Given the description of an element on the screen output the (x, y) to click on. 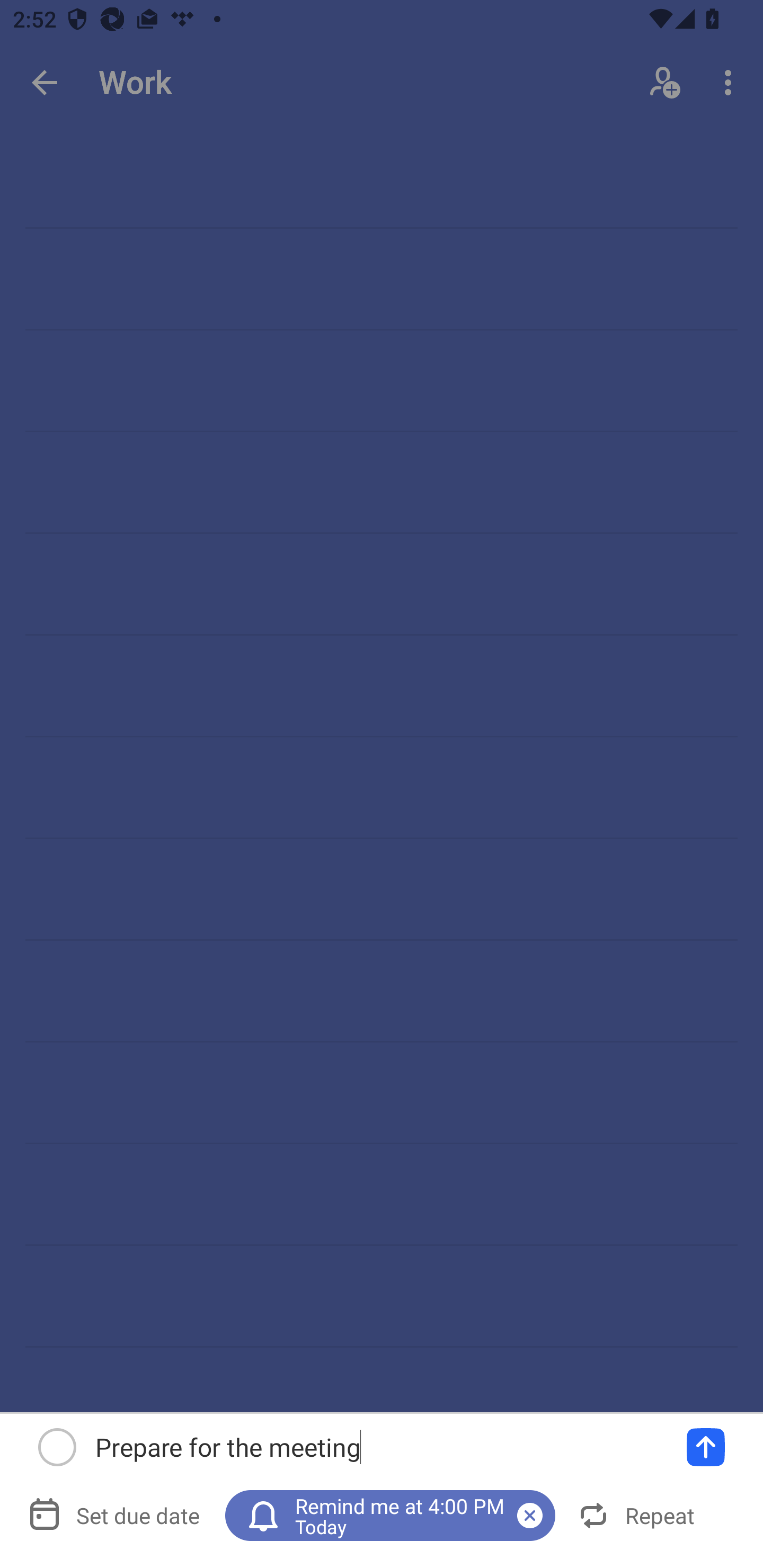
Add a task (705, 1446)
